Given the description of an element on the screen output the (x, y) to click on. 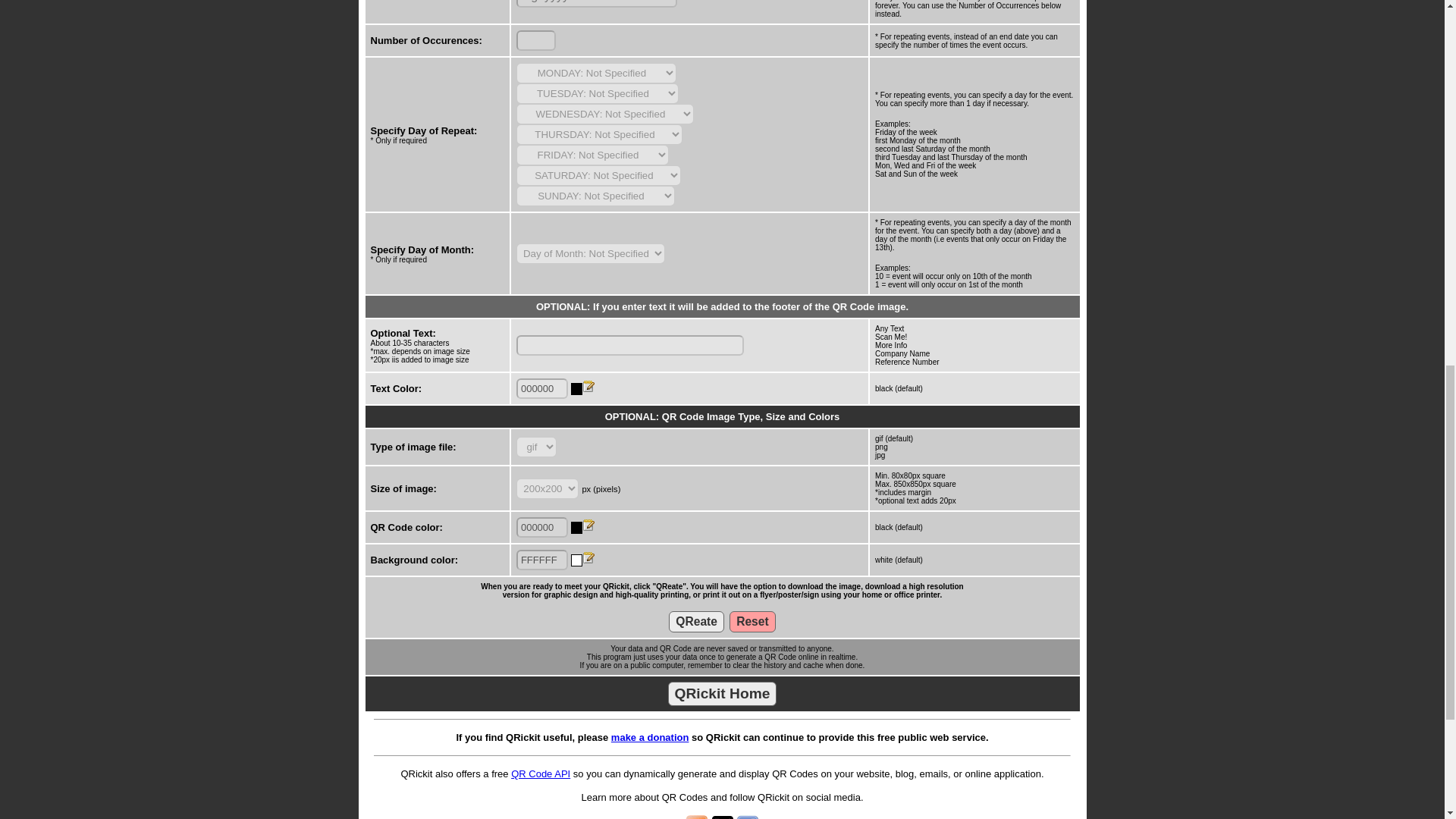
000000 (541, 388)
000000 (541, 526)
FFFFFF (541, 559)
QReate (695, 621)
Reset (751, 621)
QRickit Home (722, 693)
make a donation (649, 737)
QReate (695, 621)
QR Code API (540, 773)
